Given the description of an element on the screen output the (x, y) to click on. 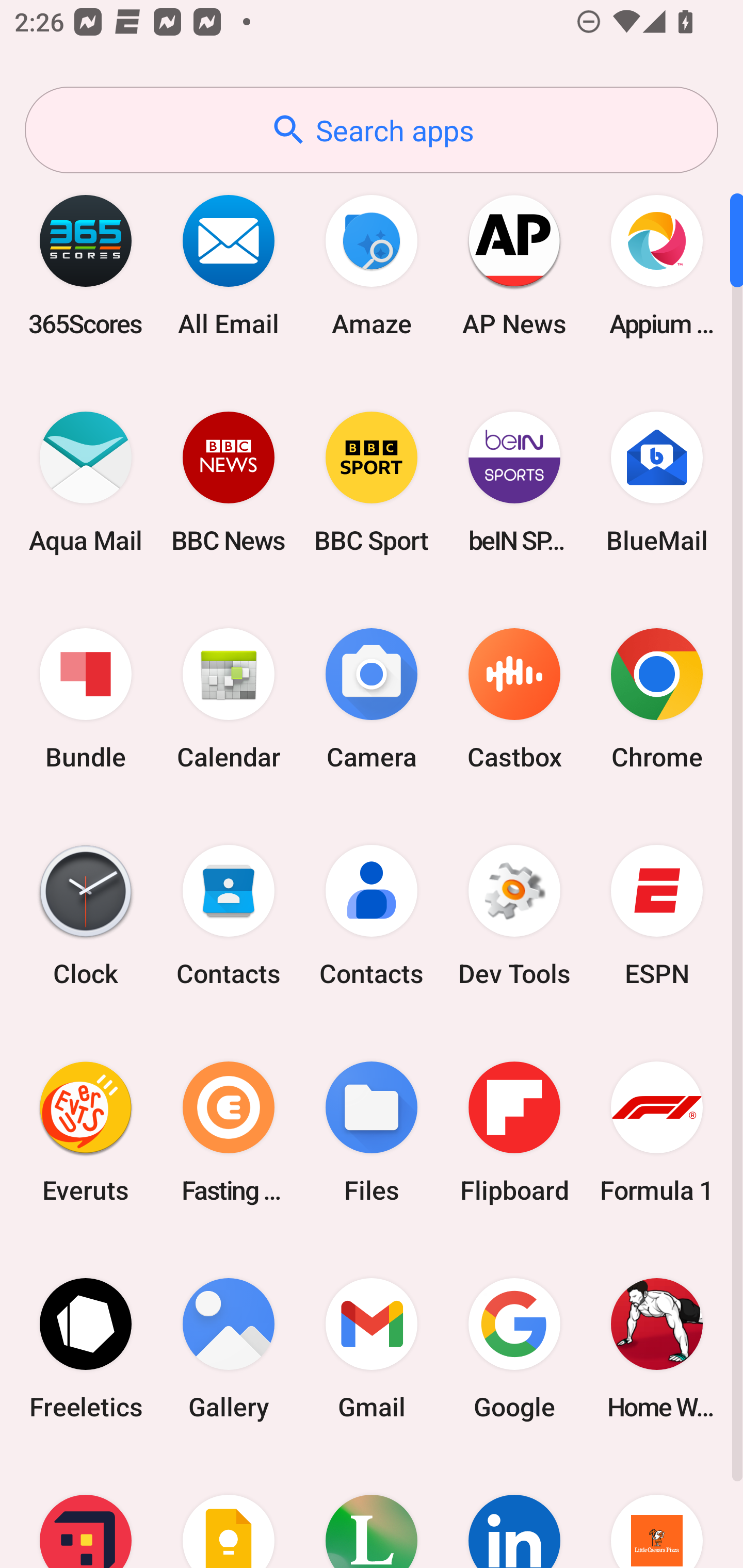
  Search apps (371, 130)
365Scores (85, 264)
All Email (228, 264)
Amaze (371, 264)
AP News (514, 264)
Appium Settings (656, 264)
Aqua Mail (85, 482)
BBC News (228, 482)
BBC Sport (371, 482)
beIN SPORTS (514, 482)
BlueMail (656, 482)
Bundle (85, 699)
Calendar (228, 699)
Camera (371, 699)
Castbox (514, 699)
Chrome (656, 699)
Clock (85, 915)
Contacts (228, 915)
Contacts (371, 915)
Dev Tools (514, 915)
ESPN (656, 915)
Everuts (85, 1131)
Fasting Coach (228, 1131)
Files (371, 1131)
Flipboard (514, 1131)
Formula 1 (656, 1131)
Freeletics (85, 1348)
Gallery (228, 1348)
Gmail (371, 1348)
Google (514, 1348)
Home Workout (656, 1348)
Hotels.com (85, 1512)
Keep Notes (228, 1512)
Lifesum (371, 1512)
LinkedIn (514, 1512)
Little Caesars Pizza (656, 1512)
